Given the description of an element on the screen output the (x, y) to click on. 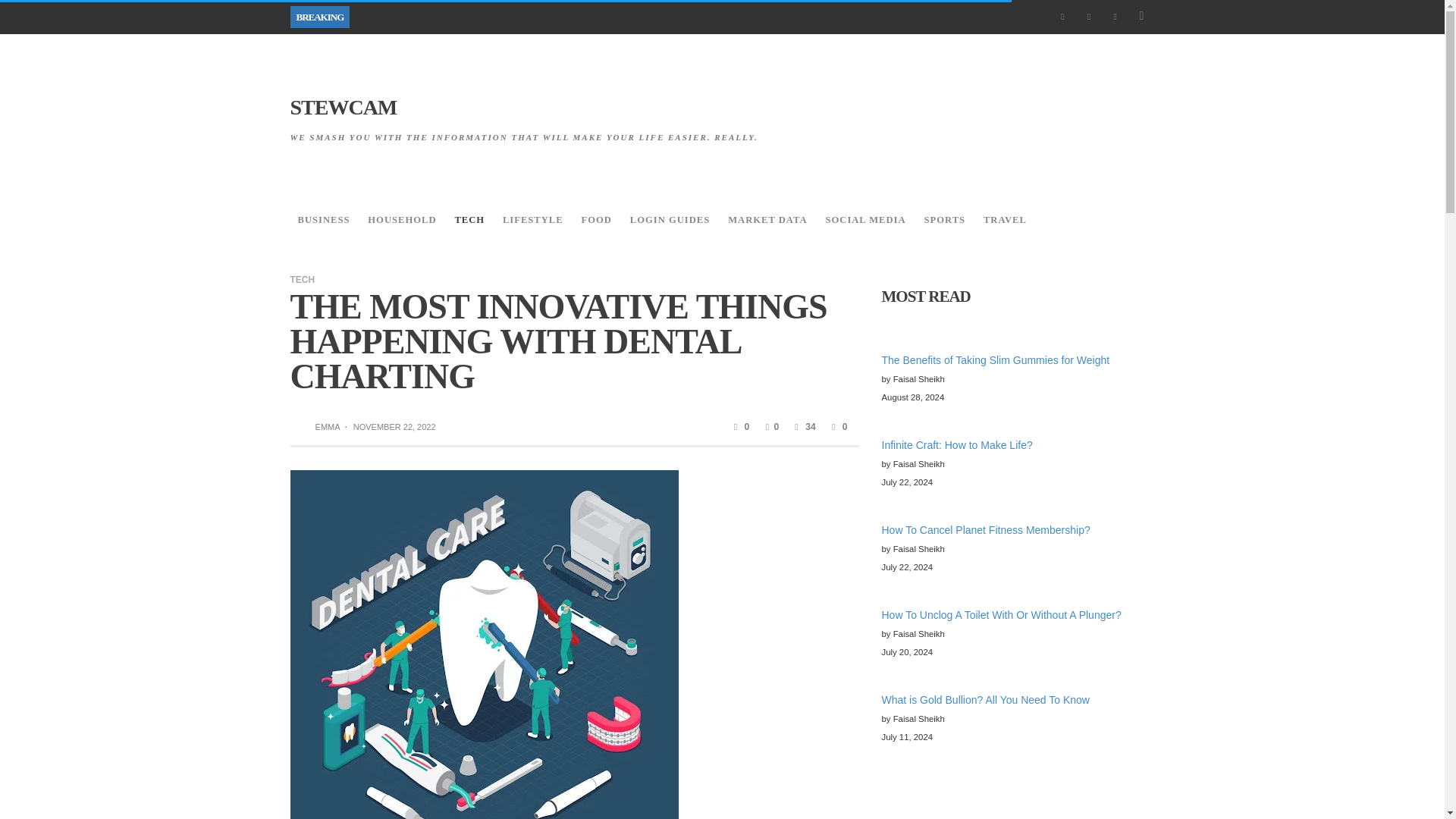
TECH (469, 219)
Twitter (1114, 16)
HOUSEHOLD (401, 219)
The Most Innovative Things Happening With Dental Charting (483, 663)
MARKET DATA (766, 219)
Posts by Emma (301, 427)
Comments (740, 426)
FOOD (596, 219)
Shares (837, 426)
